Given the description of an element on the screen output the (x, y) to click on. 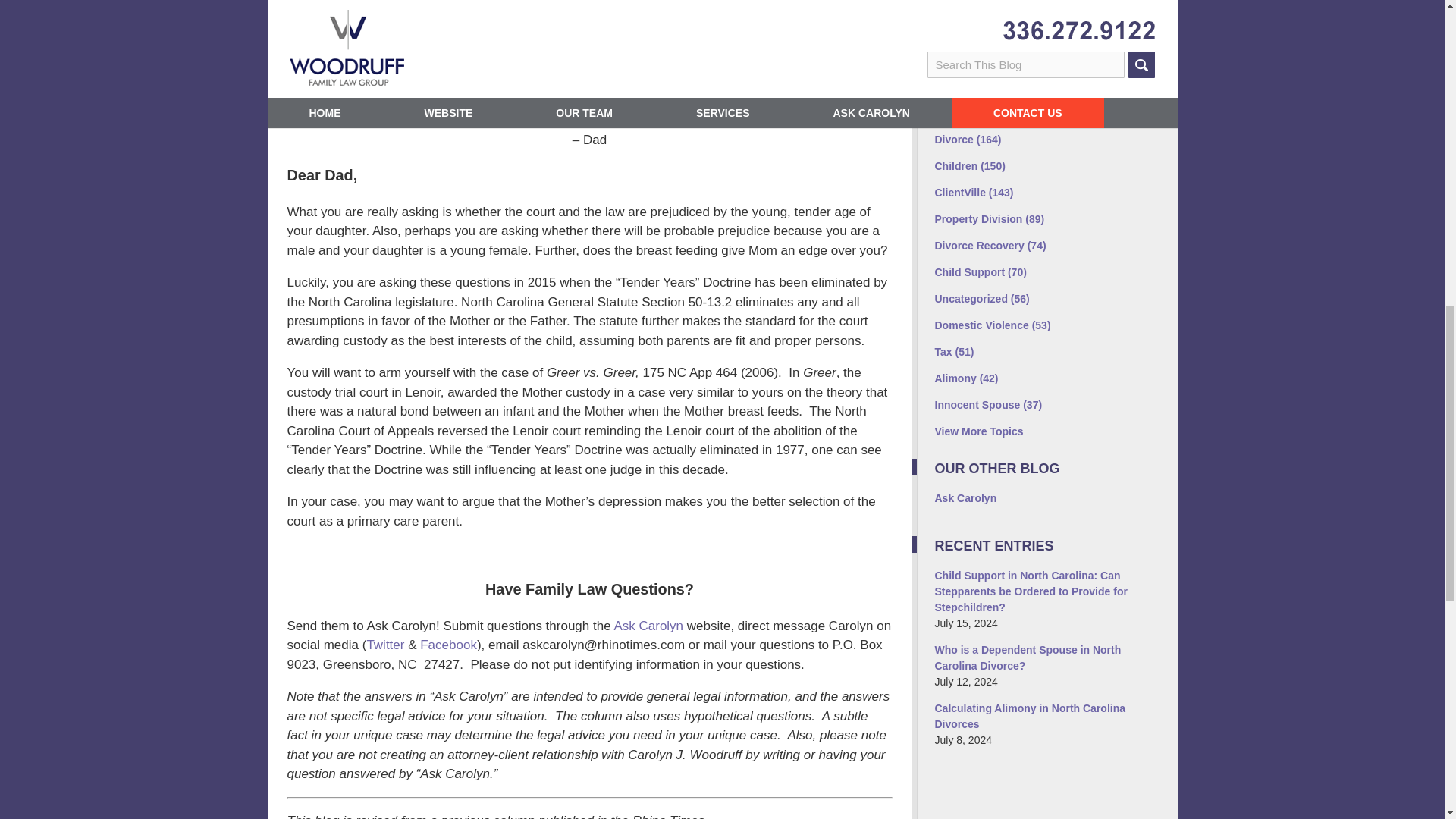
Facebook (448, 644)
Feed (1107, 31)
Ask Carolyn (647, 626)
Twitter (981, 31)
YouTube (1074, 31)
LinkedIn (1012, 31)
Justia (1044, 31)
custody (679, 29)
Twitter (385, 644)
Facebook (949, 31)
